Given the description of an element on the screen output the (x, y) to click on. 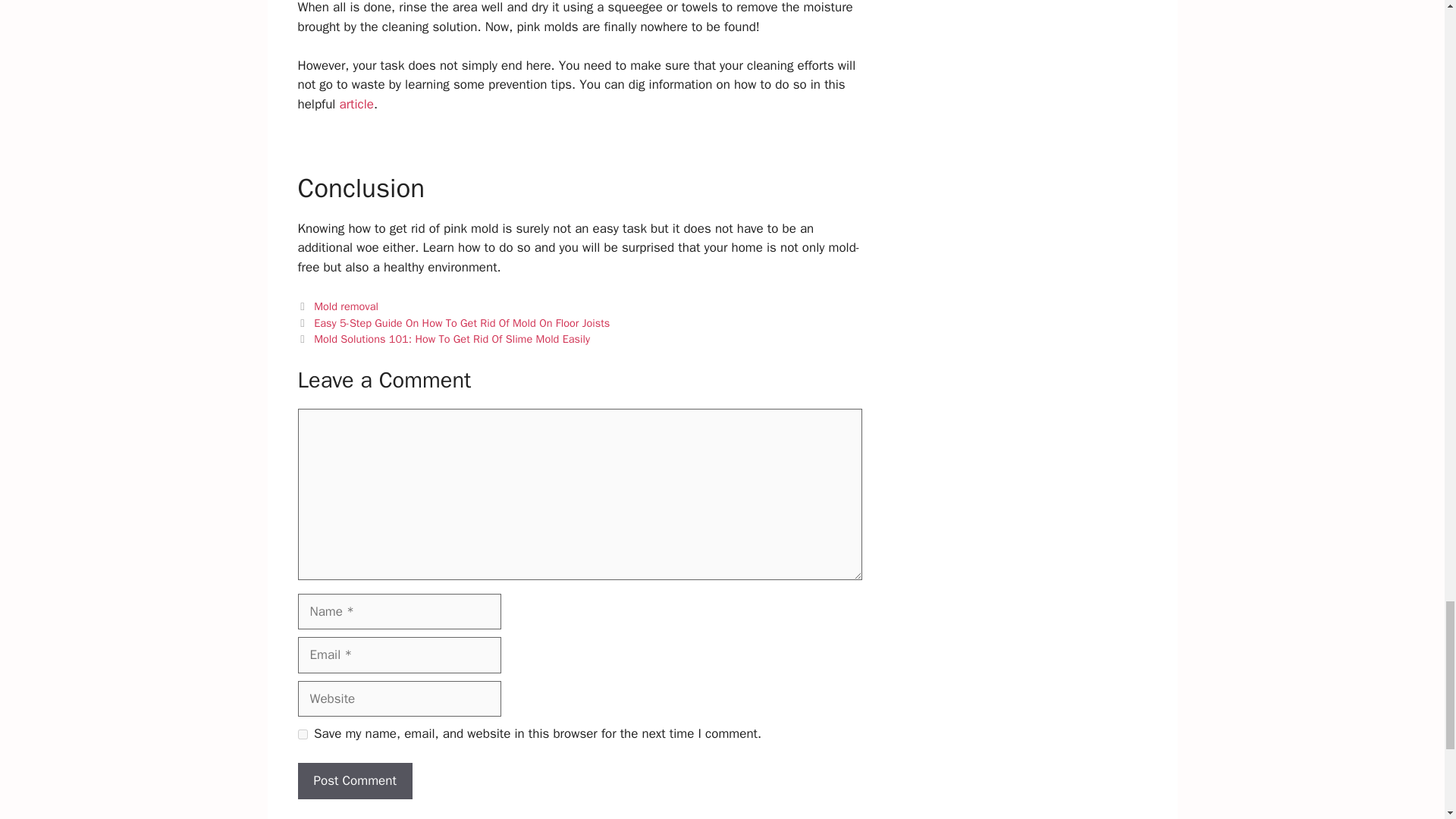
Post Comment (354, 780)
yes (302, 734)
